Given the description of an element on the screen output the (x, y) to click on. 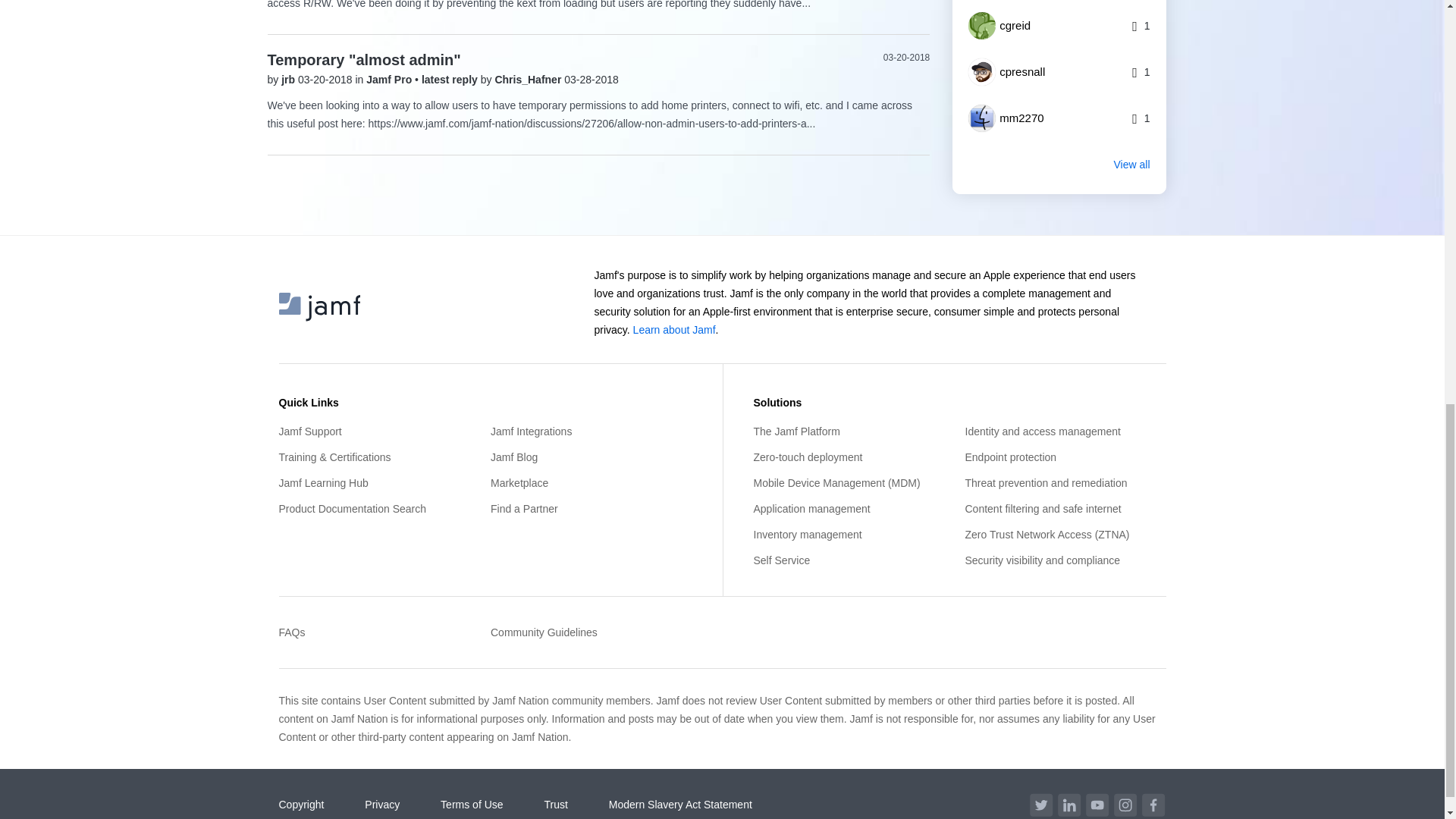
Jamf Pro (390, 79)
latest reply (451, 79)
Temporary "almost admin" (363, 59)
jrb (289, 79)
